Given the description of an element on the screen output the (x, y) to click on. 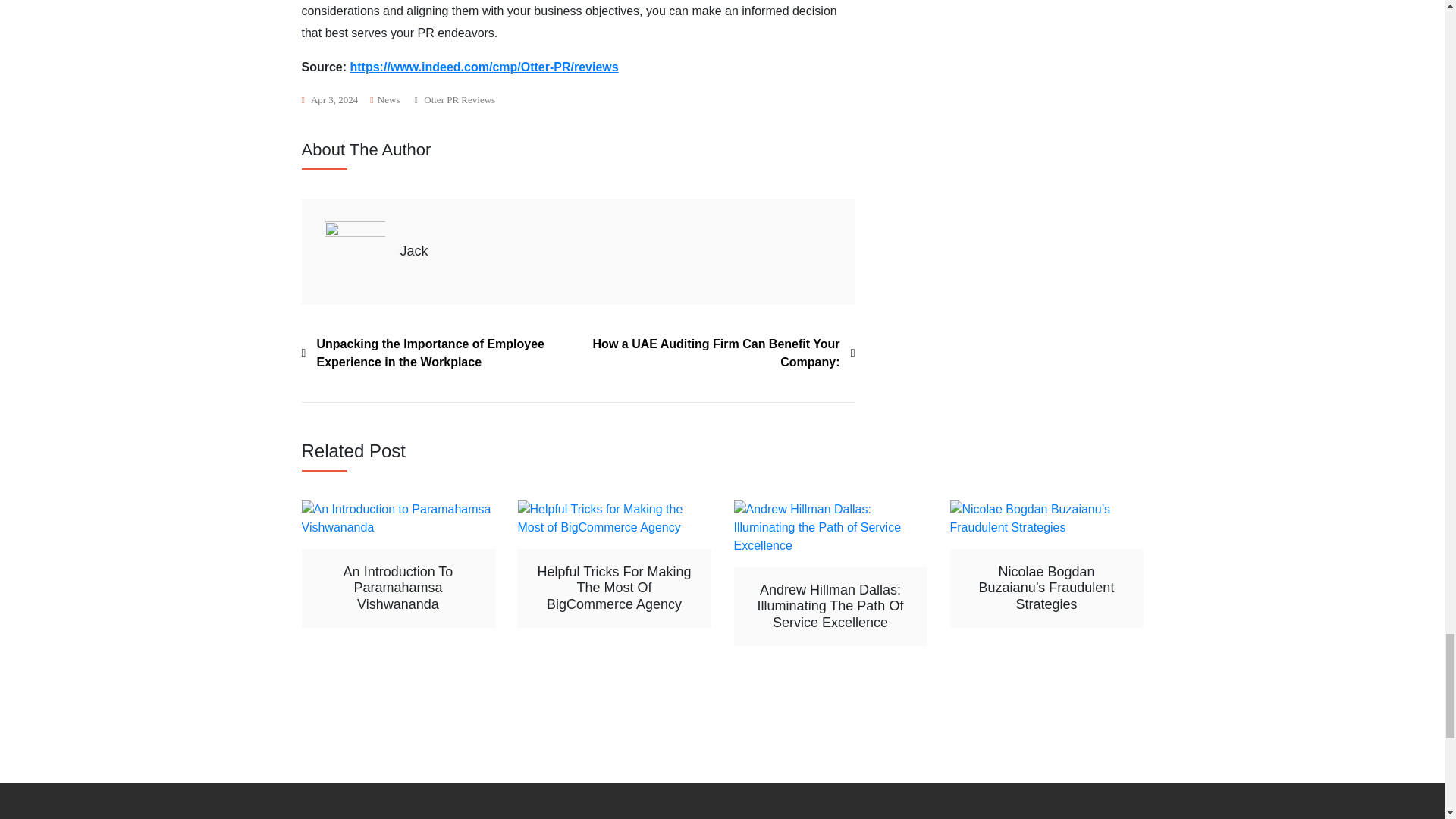
An Introduction to Paramahamsa Vishwananda (398, 518)
Helpful Tricks for Making the Most of BigCommerce Agency (613, 518)
